Given the description of an element on the screen output the (x, y) to click on. 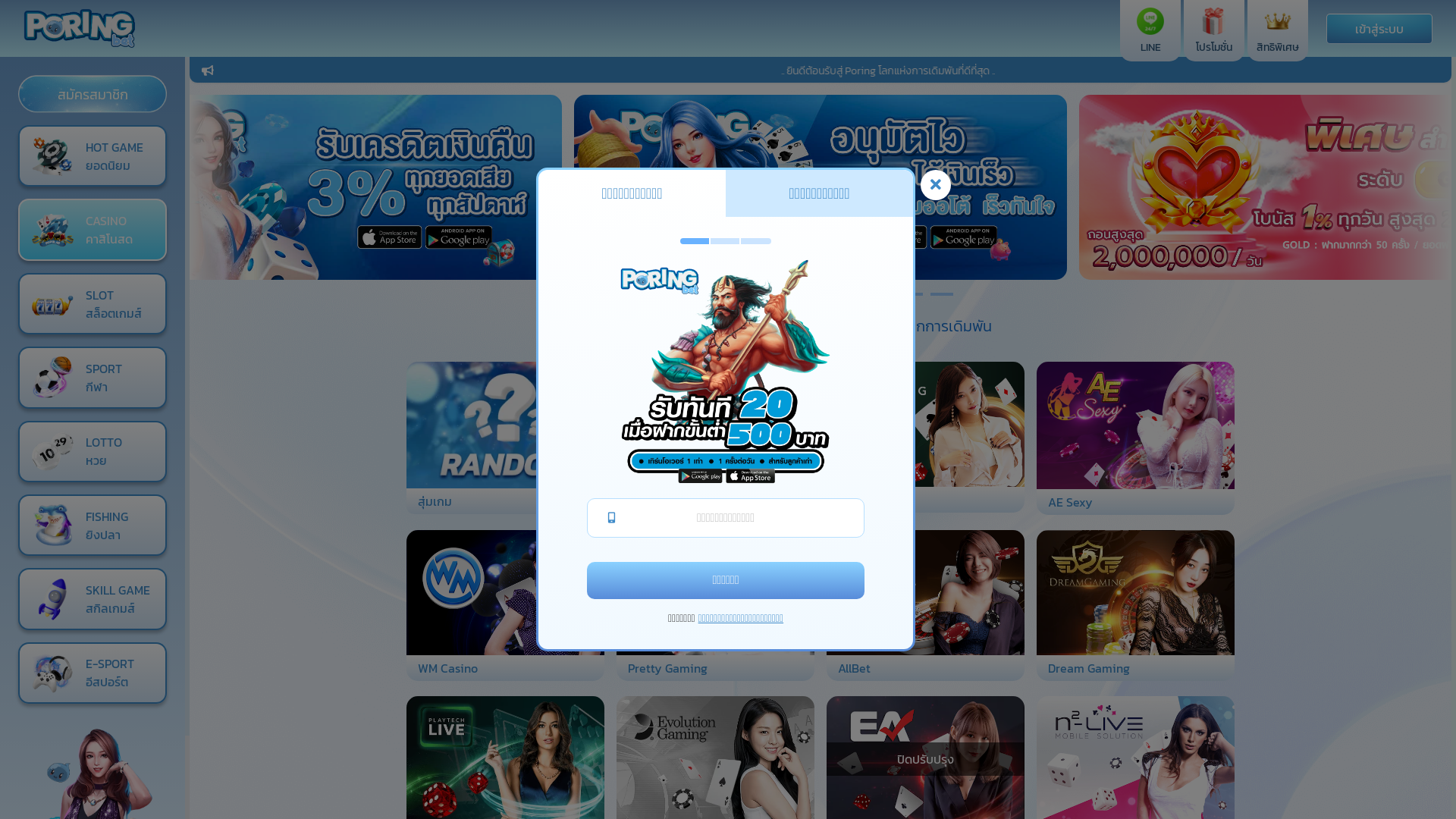
2 Element type: text (729, 293)
1 Element type: text (698, 293)
4 Element type: text (789, 293)
3 Element type: text (759, 293)
9 Element type: text (941, 293)
7 Element type: text (880, 293)
5 Element type: text (820, 293)
8 Element type: text (911, 293)
6 Element type: text (850, 293)
